Given the description of an element on the screen output the (x, y) to click on. 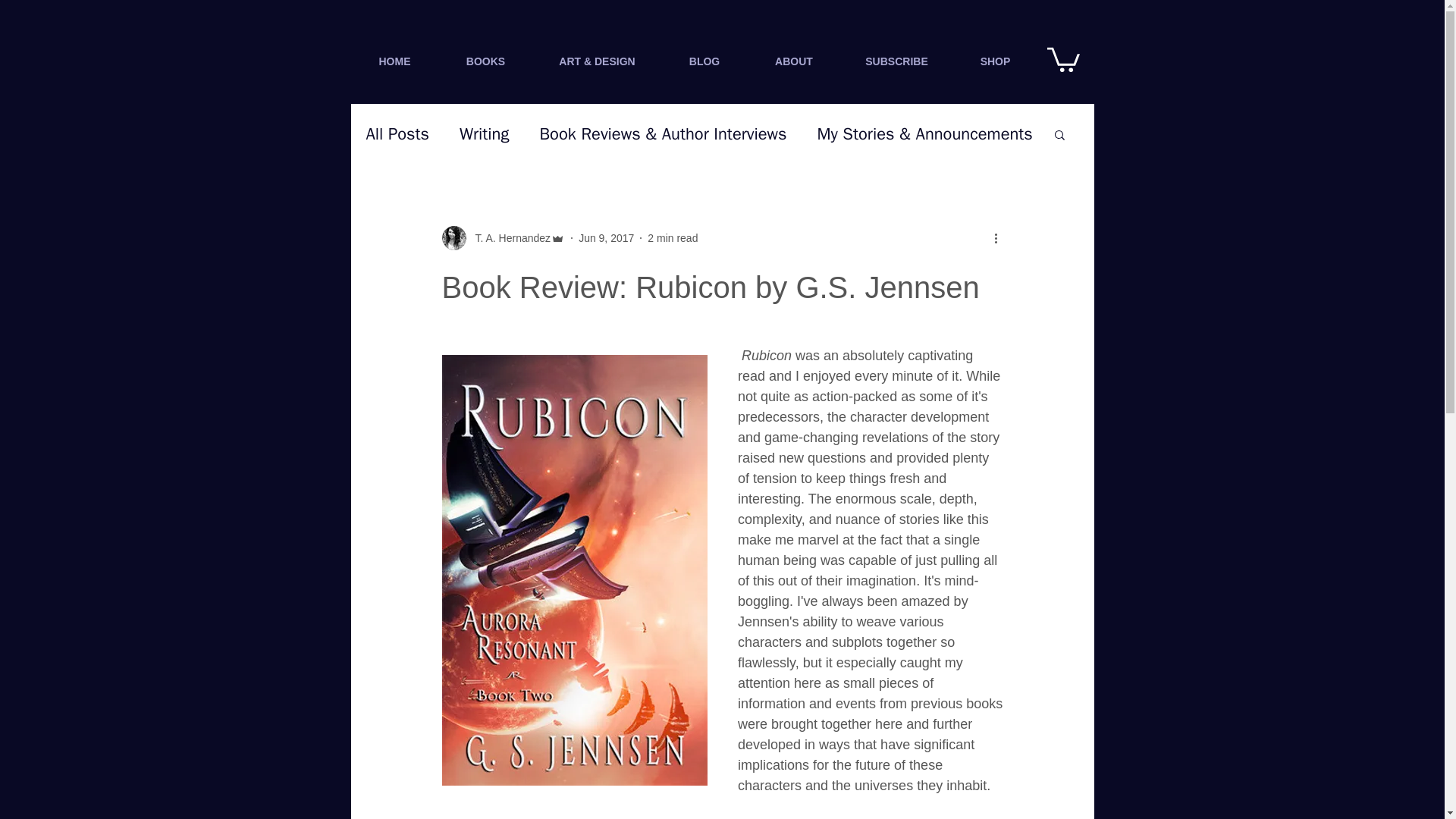
2 min read (672, 237)
BLOG (703, 61)
T. A. Hernandez (507, 238)
SHOP (994, 61)
Jun 9, 2017 (605, 237)
ABOUT (794, 61)
All Posts (397, 133)
HOME (394, 61)
Writing (484, 133)
SUBSCRIBE (896, 61)
